Given the description of an element on the screen output the (x, y) to click on. 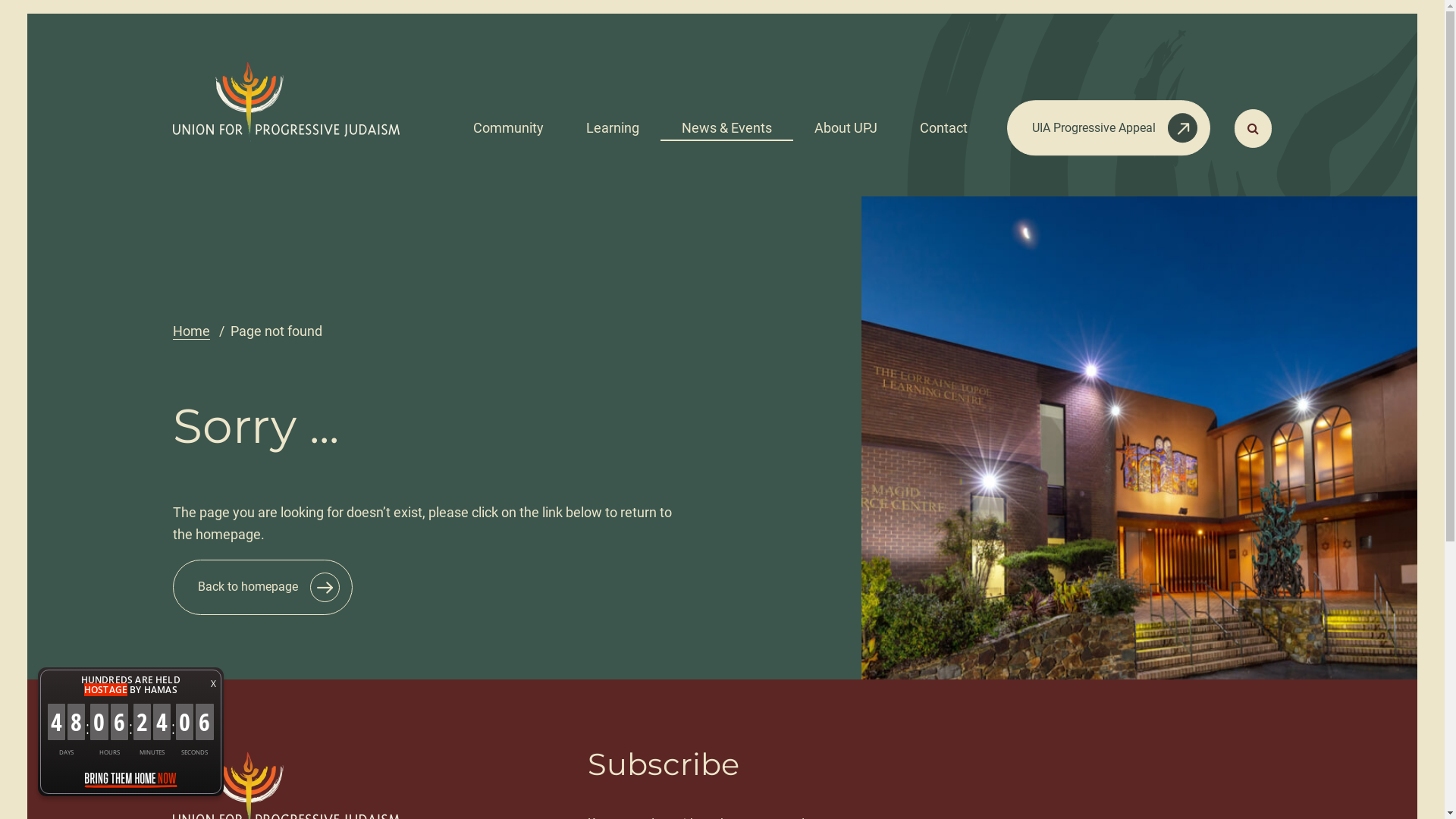
Contact Element type: text (943, 123)
Learning Element type: text (612, 123)
Open search Element type: text (1252, 128)
About UPJ Element type: text (845, 123)
Community Element type: text (507, 123)
Home Element type: text (191, 330)
UIA Progressive Appeal Element type: text (1108, 127)
Back to homepage Element type: text (262, 587)
News & Events Element type: text (726, 123)
